Given the description of an element on the screen output the (x, y) to click on. 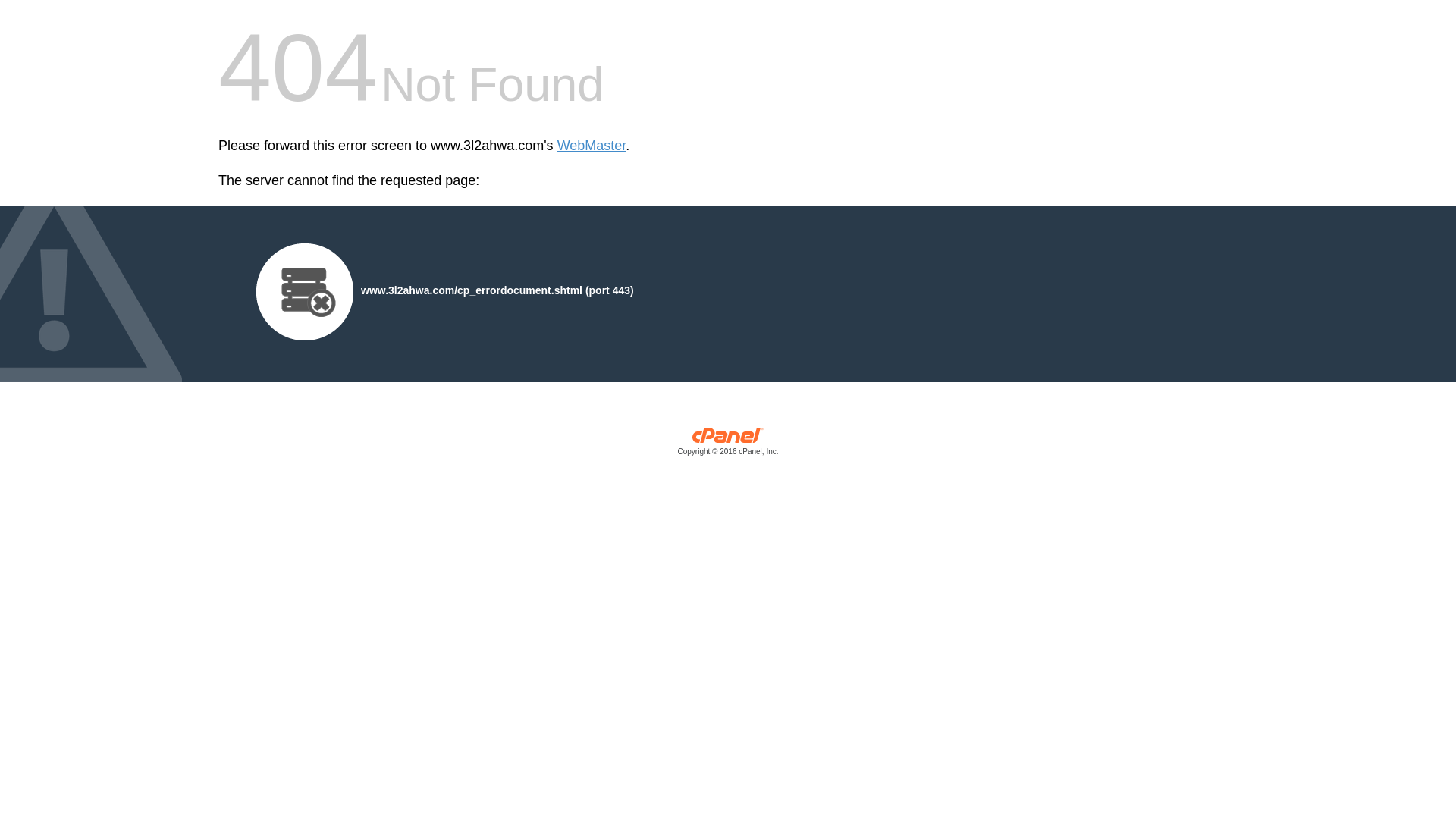
WebMaster Element type: text (591, 145)
